Given the description of an element on the screen output the (x, y) to click on. 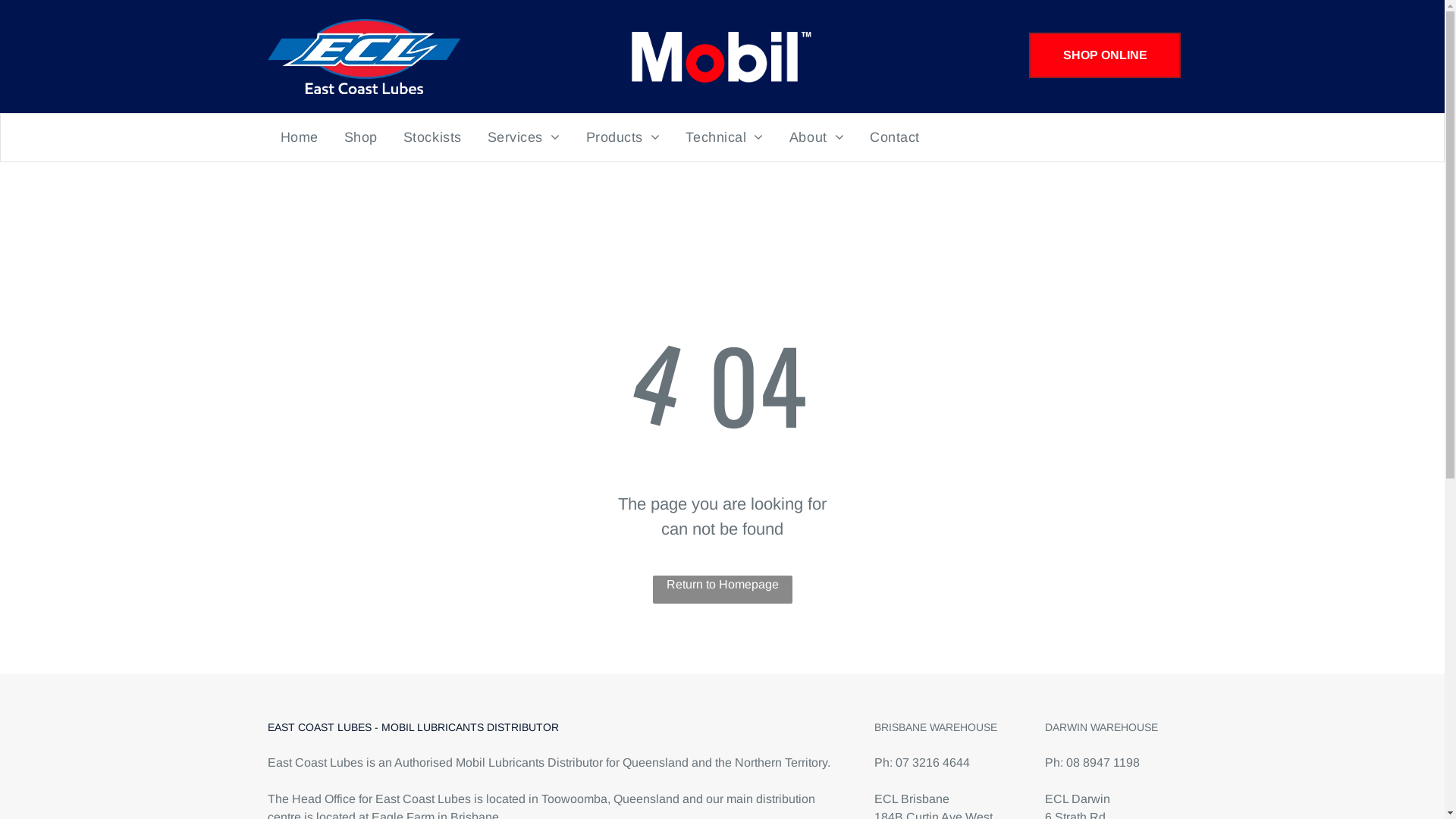
Return to Homepage Element type: text (721, 589)
Stockists Element type: text (432, 137)
08 8947 1198 Element type: text (1102, 762)
Services Element type: text (523, 137)
About Element type: text (816, 137)
SHOP ONLINE Element type: text (1104, 55)
ECL Brisbane Element type: text (910, 798)
Technical Element type: text (723, 137)
Home Element type: text (298, 137)
ECL Darwin Element type: text (1077, 798)
Contact Element type: text (894, 137)
07 3216 4644 Element type: text (931, 762)
Shop Element type: text (360, 137)
Products Element type: text (623, 137)
